Given the description of an element on the screen output the (x, y) to click on. 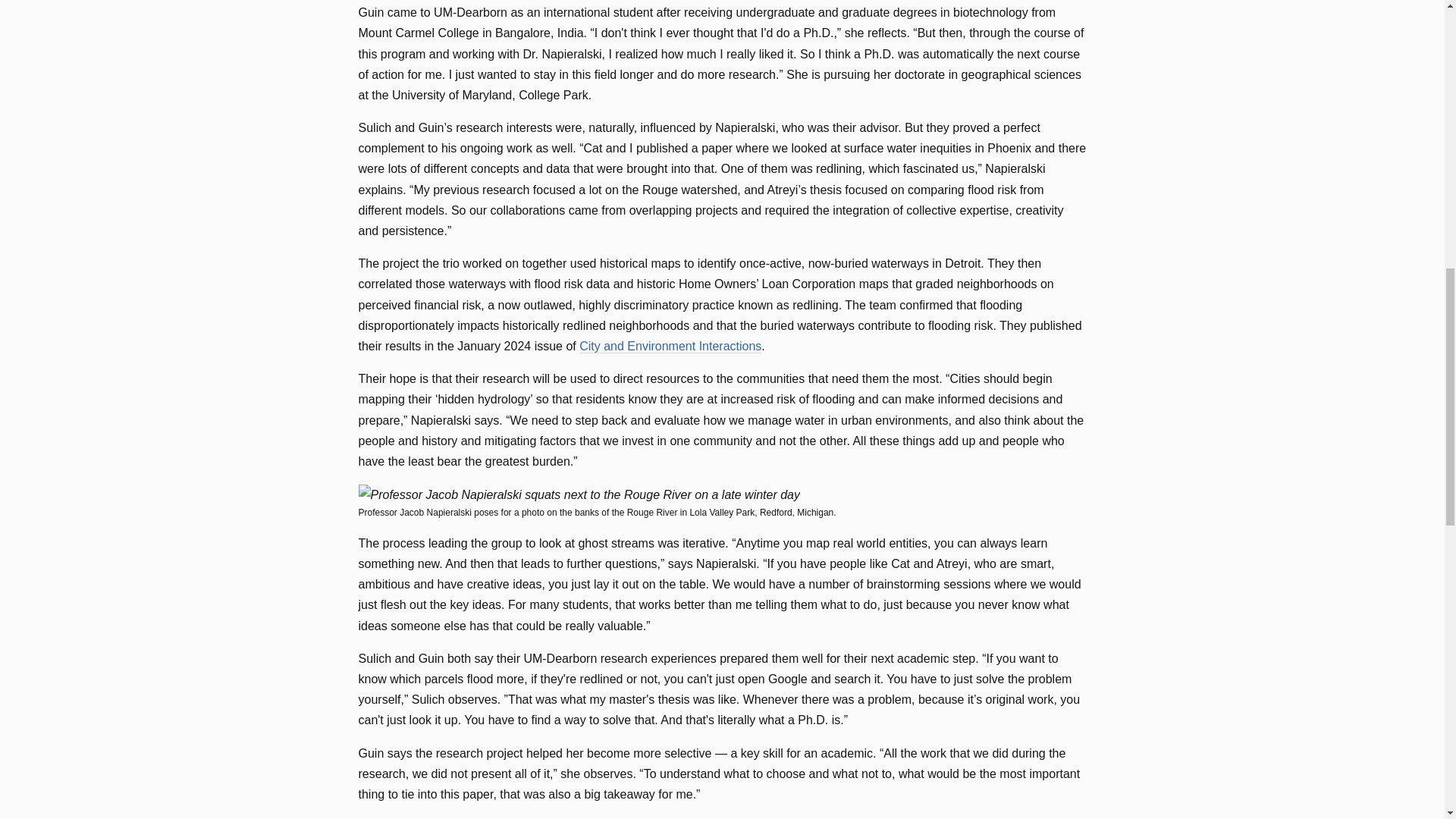
City and Environment Interactions (670, 345)
